Given the description of an element on the screen output the (x, y) to click on. 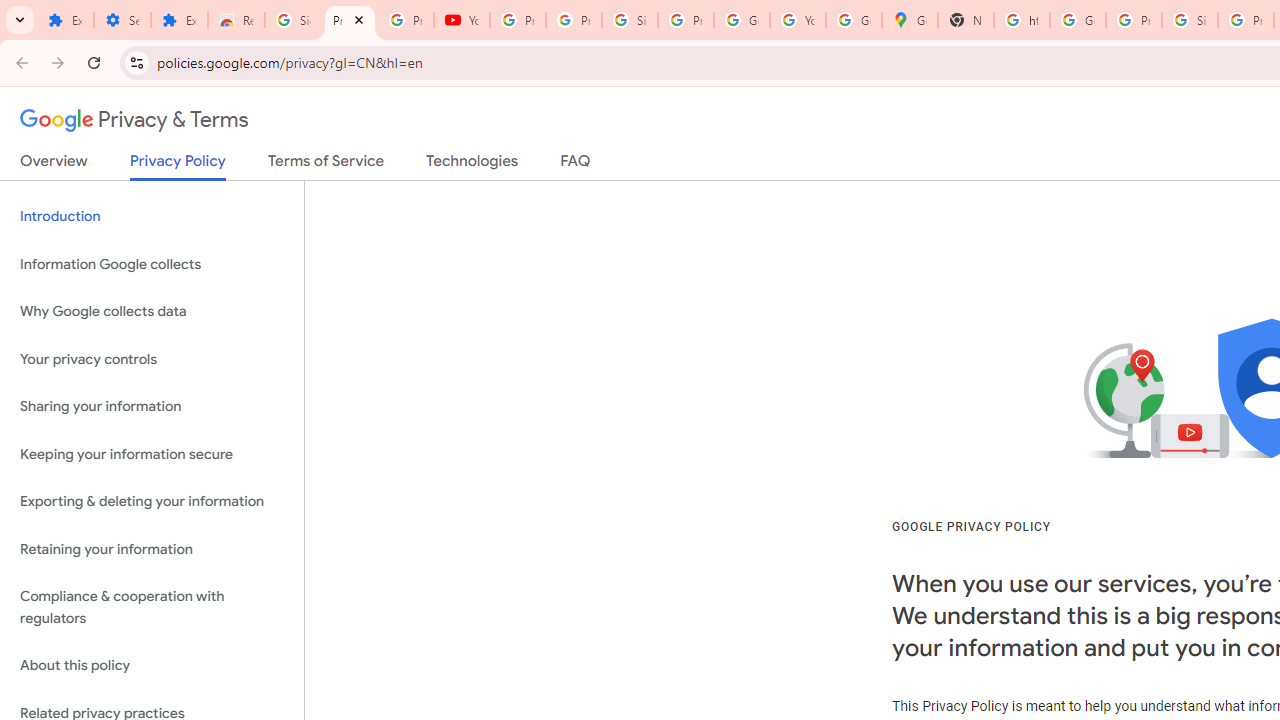
About this policy (152, 666)
Introduction (152, 216)
YouTube (461, 20)
Your privacy controls (152, 358)
https://scholar.google.com/ (1021, 20)
Sign in - Google Accounts (293, 20)
Information Google collects (152, 263)
Google Maps (909, 20)
YouTube (797, 20)
Retaining your information (152, 548)
Sign in - Google Accounts (629, 20)
